Given the description of an element on the screen output the (x, y) to click on. 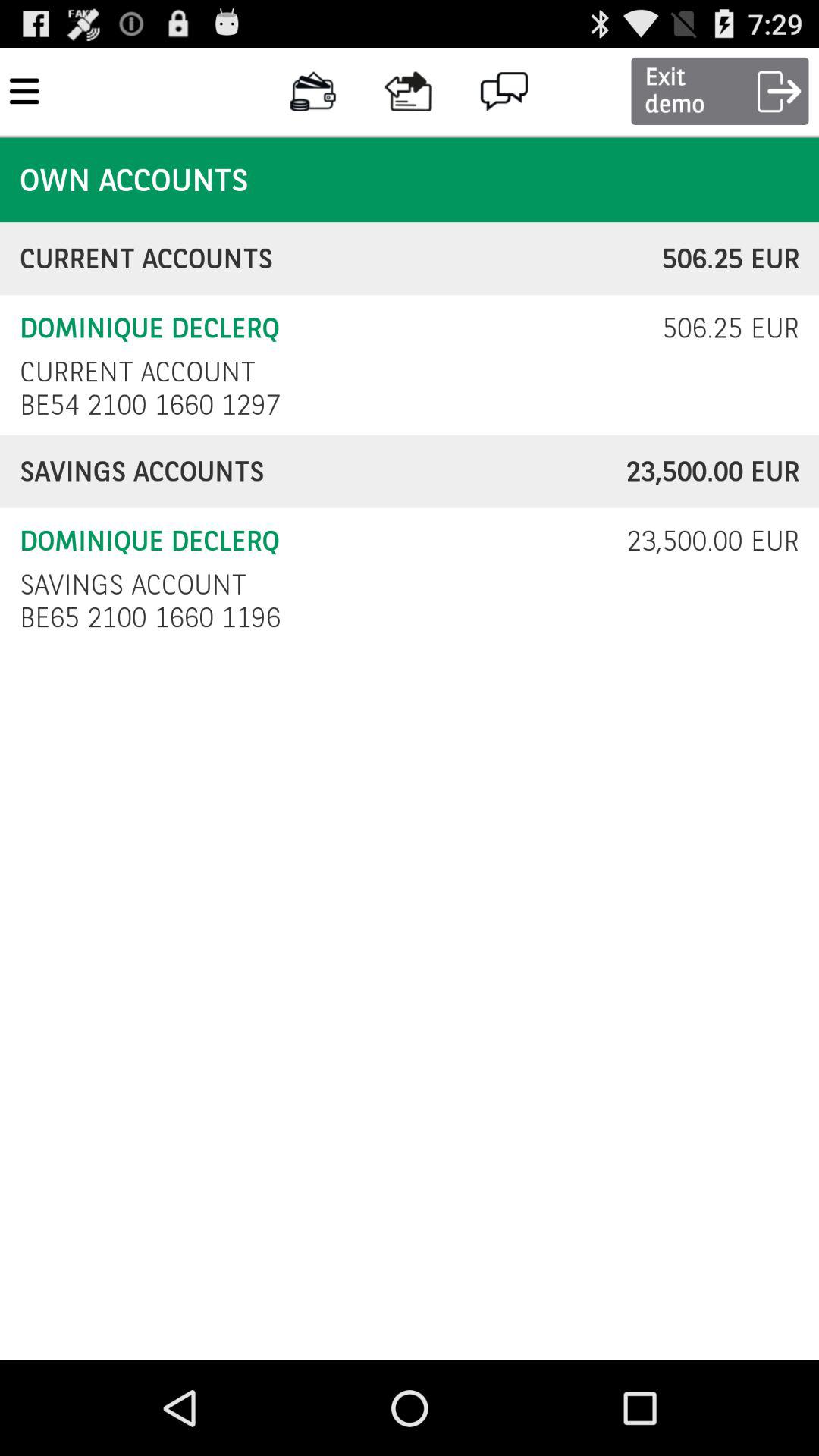
open savings account icon (132, 584)
